Given the description of an element on the screen output the (x, y) to click on. 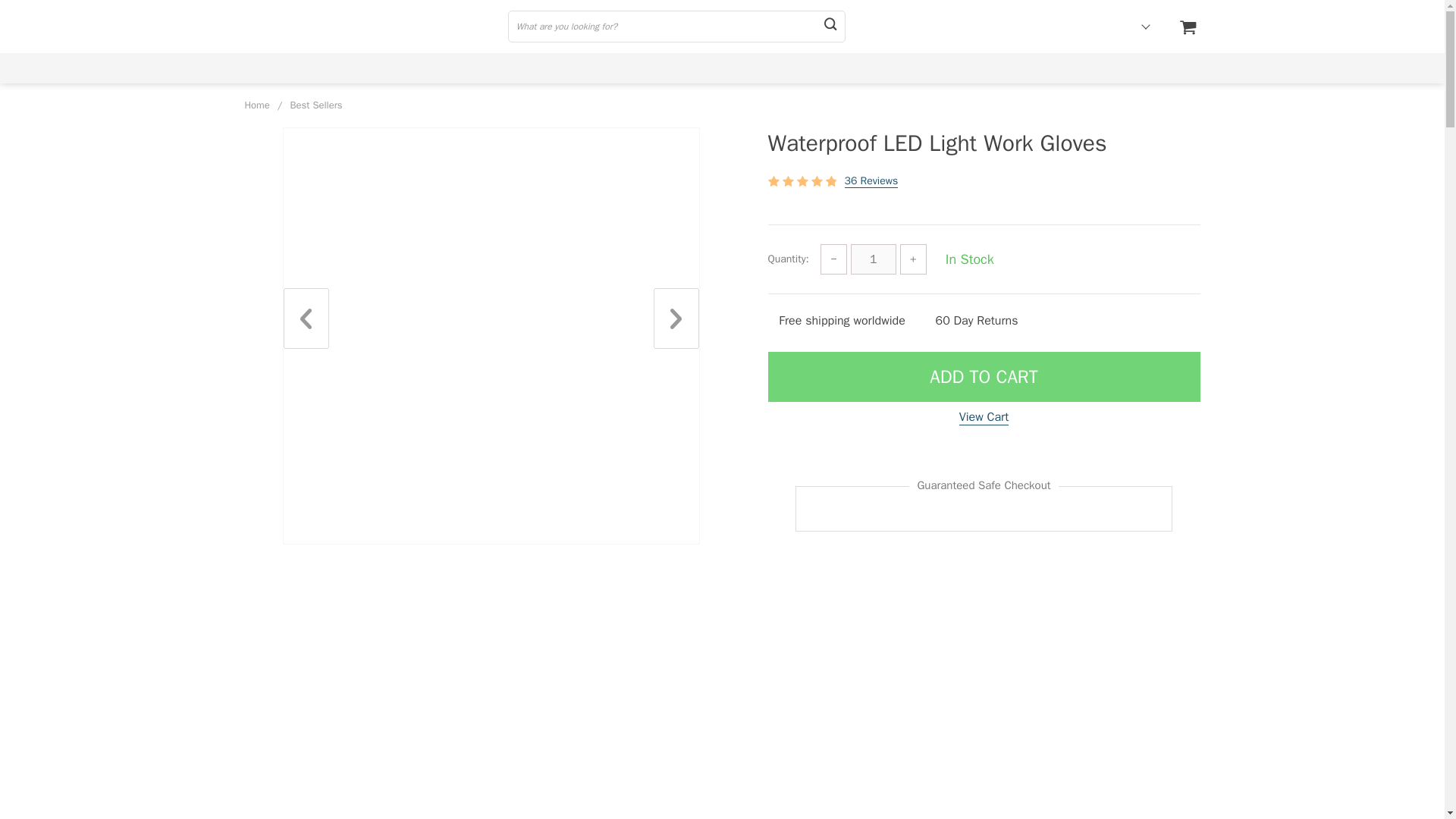
Home (256, 105)
Best Sellers (315, 104)
1 (873, 259)
ADD TO CART (983, 377)
